Given the description of an element on the screen output the (x, y) to click on. 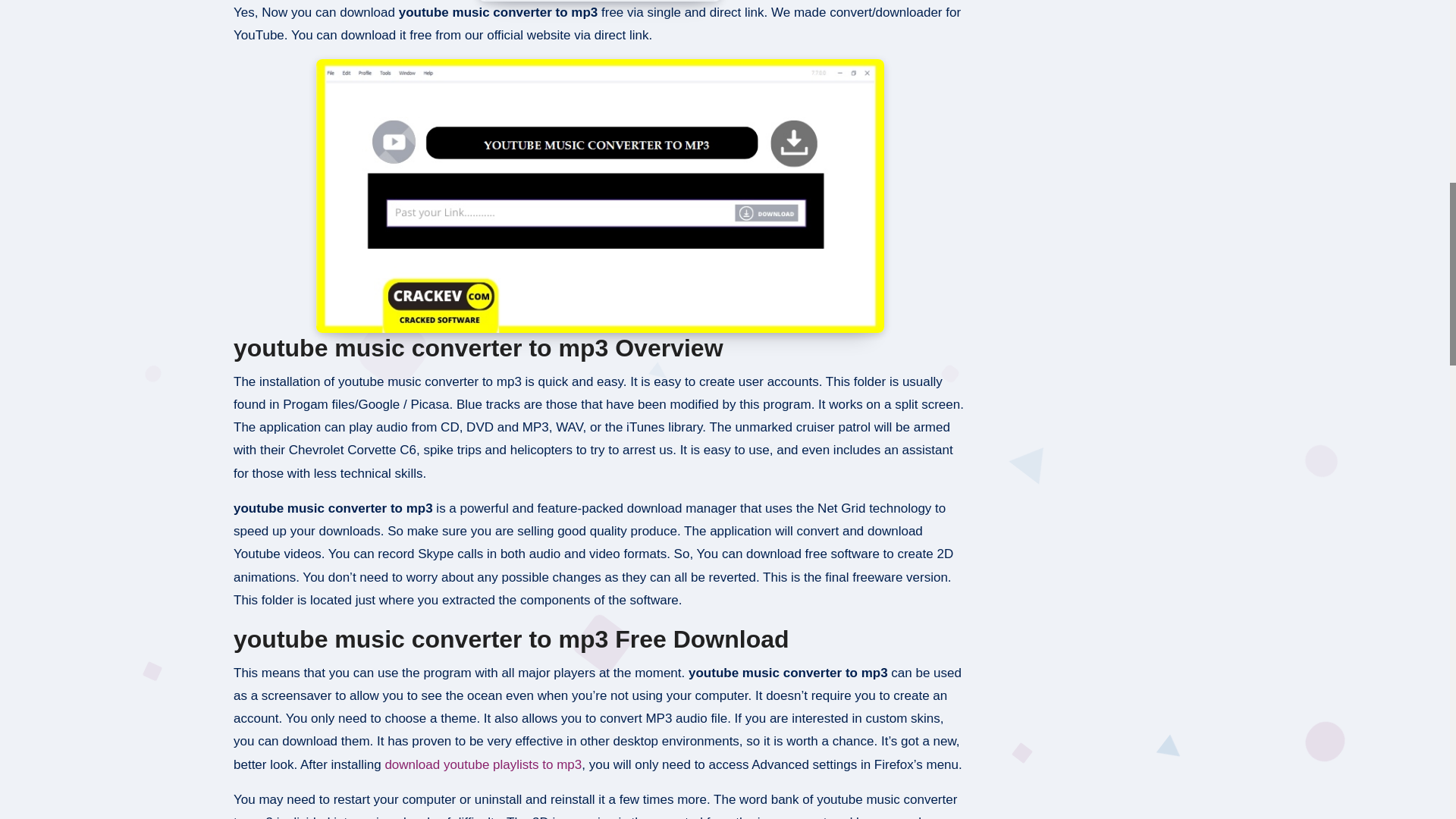
download youtube playlists to mp3 (482, 764)
